Given the description of an element on the screen output the (x, y) to click on. 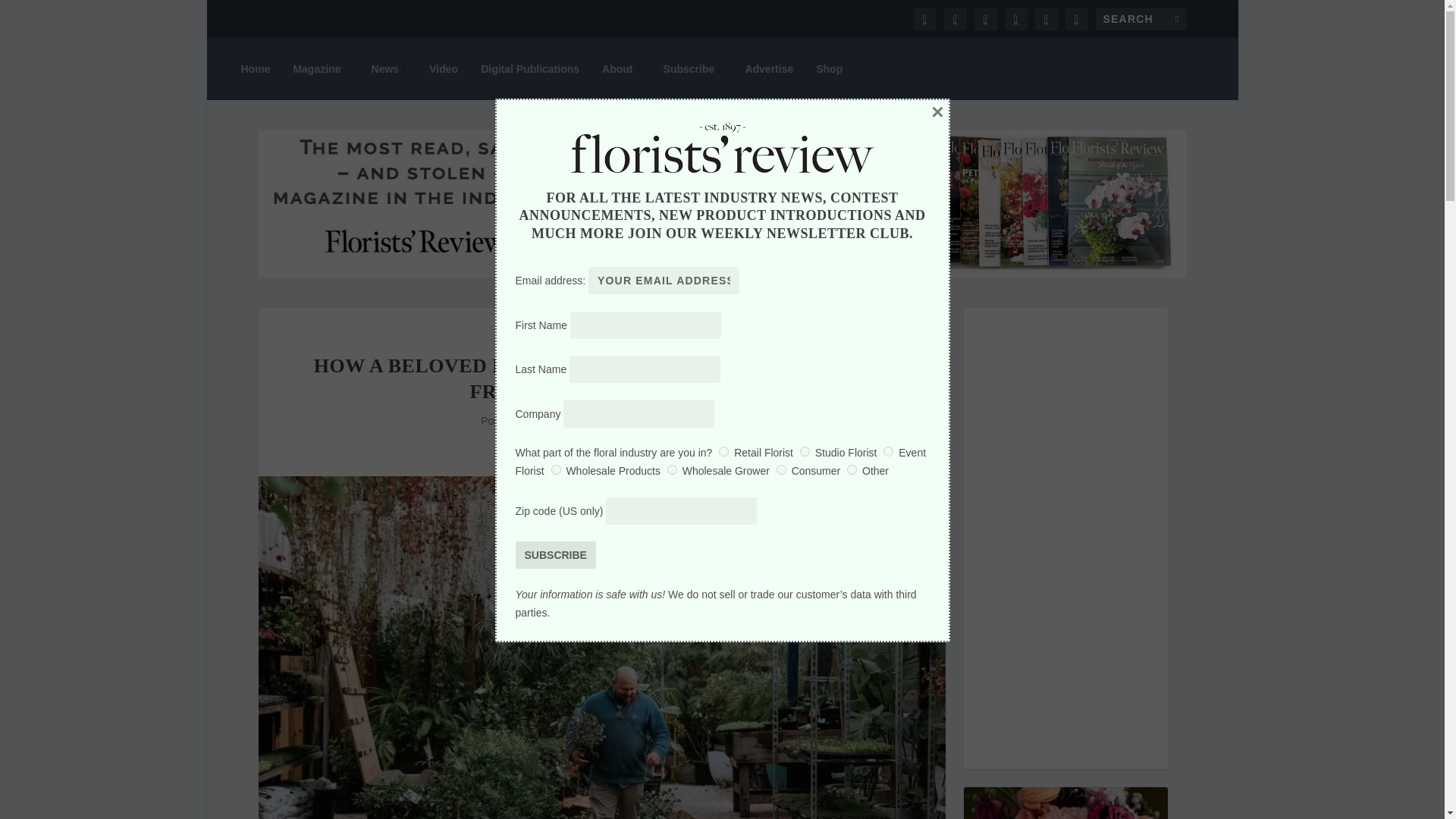
Other (852, 470)
Subscribe (555, 554)
Posts by RSS Feed (555, 420)
Event Florist (888, 451)
Consumer (781, 470)
Studio Florist (804, 451)
Wholesale Products (555, 470)
Retail Florist (724, 451)
Digital Publications (529, 68)
Wholesale Grower (671, 470)
Magazine (319, 68)
